Given the description of an element on the screen output the (x, y) to click on. 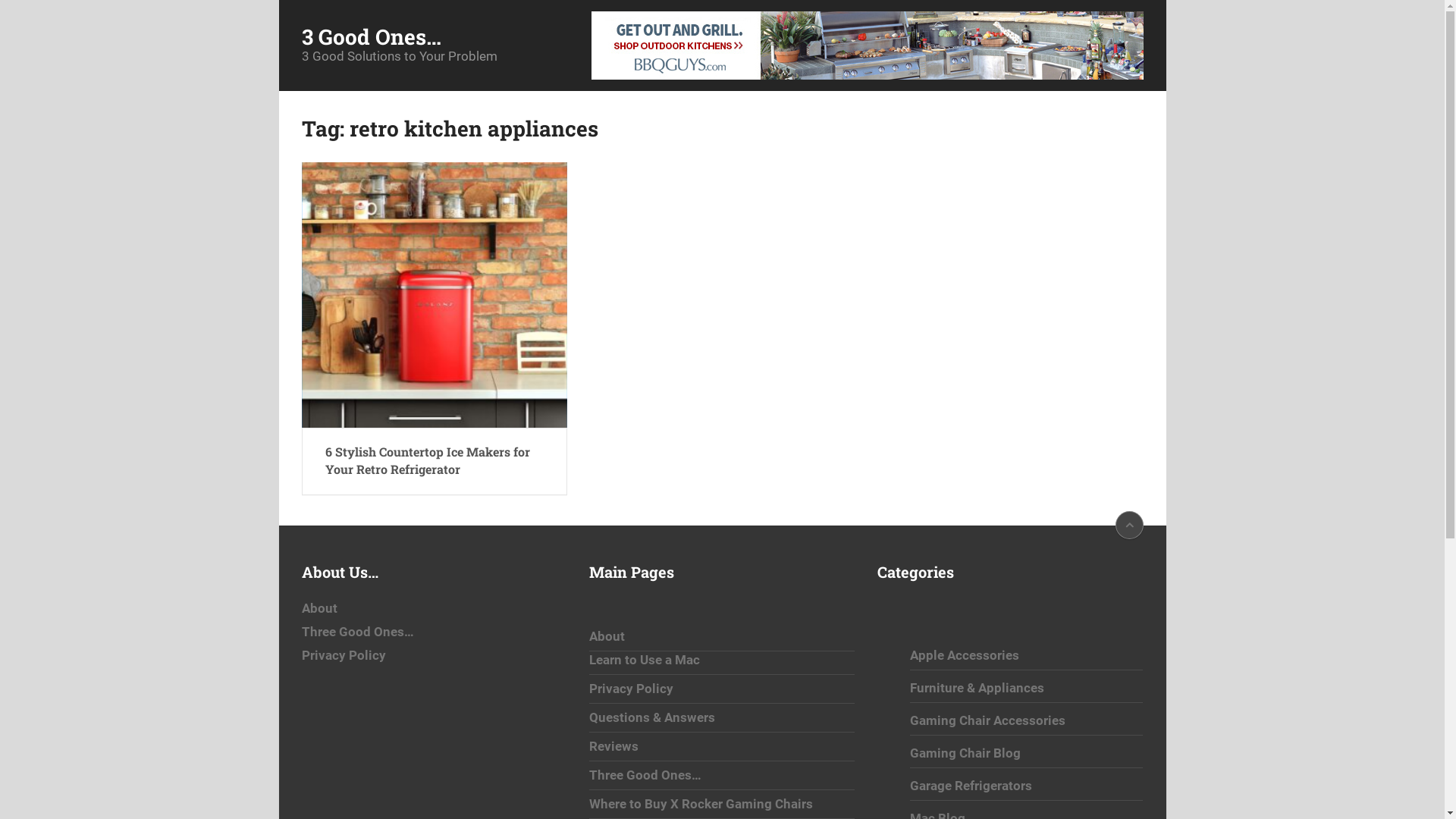
About Element type: text (319, 607)
Gaming Chair Accessories Element type: text (987, 720)
About Element type: text (606, 635)
Gaming Chair Blog Element type: text (965, 752)
6 Stylish Countertop Ice Makers for Your Retro Refrigerator Element type: text (433, 460)
Where to Buy X Rocker Gaming Chairs Element type: text (700, 803)
Privacy Policy Element type: text (631, 688)
Reviews Element type: text (613, 745)
6 Stylish Countertop Ice Makers for Your Retro Refrigerator Element type: hover (434, 294)
Privacy Policy Element type: text (343, 654)
Learn to Use a Mac Element type: text (644, 659)
Garage Refrigerators Element type: text (971, 785)
Furniture & Appliances Element type: text (977, 687)
Questions & Answers Element type: text (652, 716)
Apple Accessories Element type: text (964, 654)
